Given the description of an element on the screen output the (x, y) to click on. 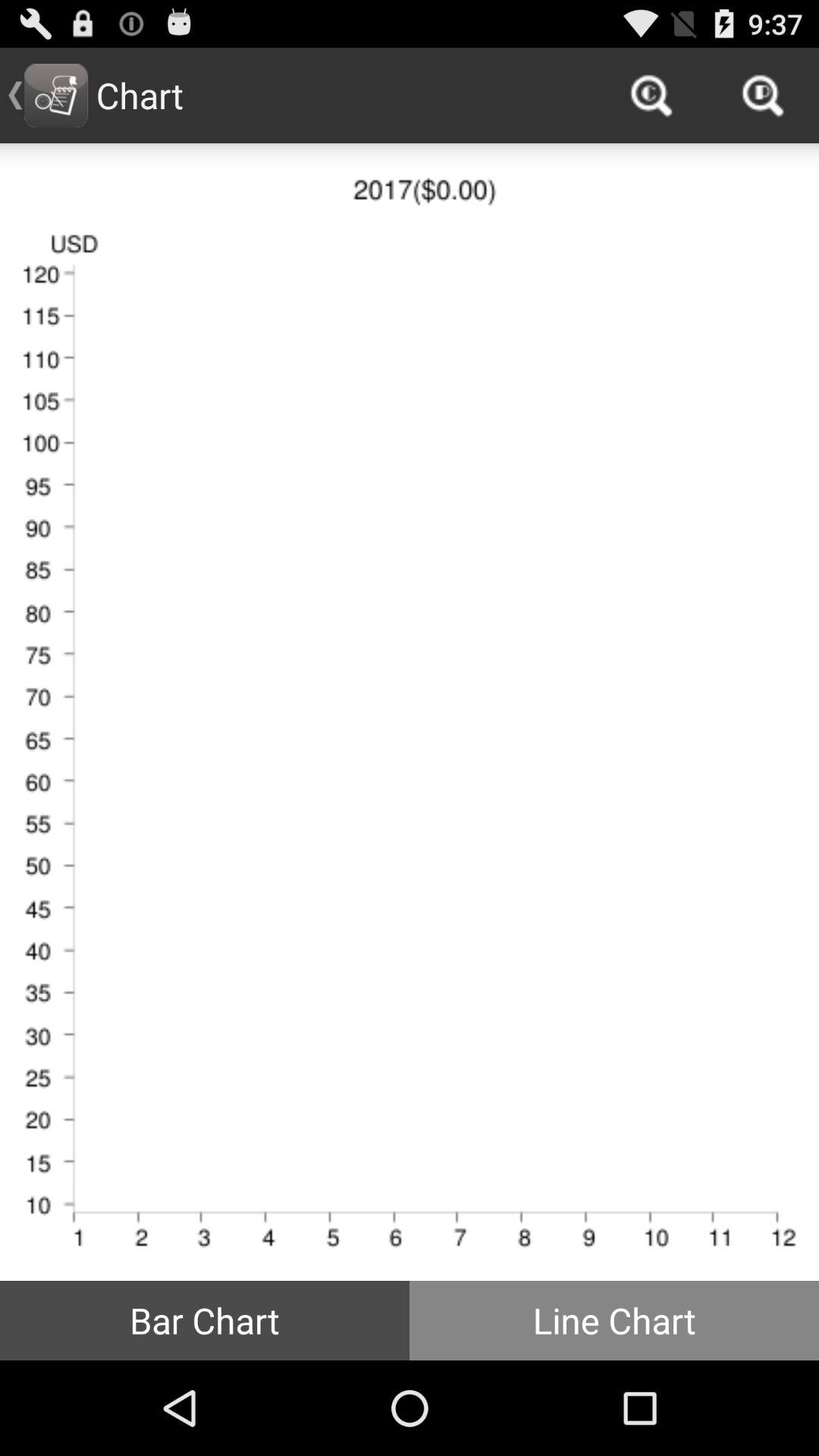
click the icon next to bar chart item (614, 1320)
